Given the description of an element on the screen output the (x, y) to click on. 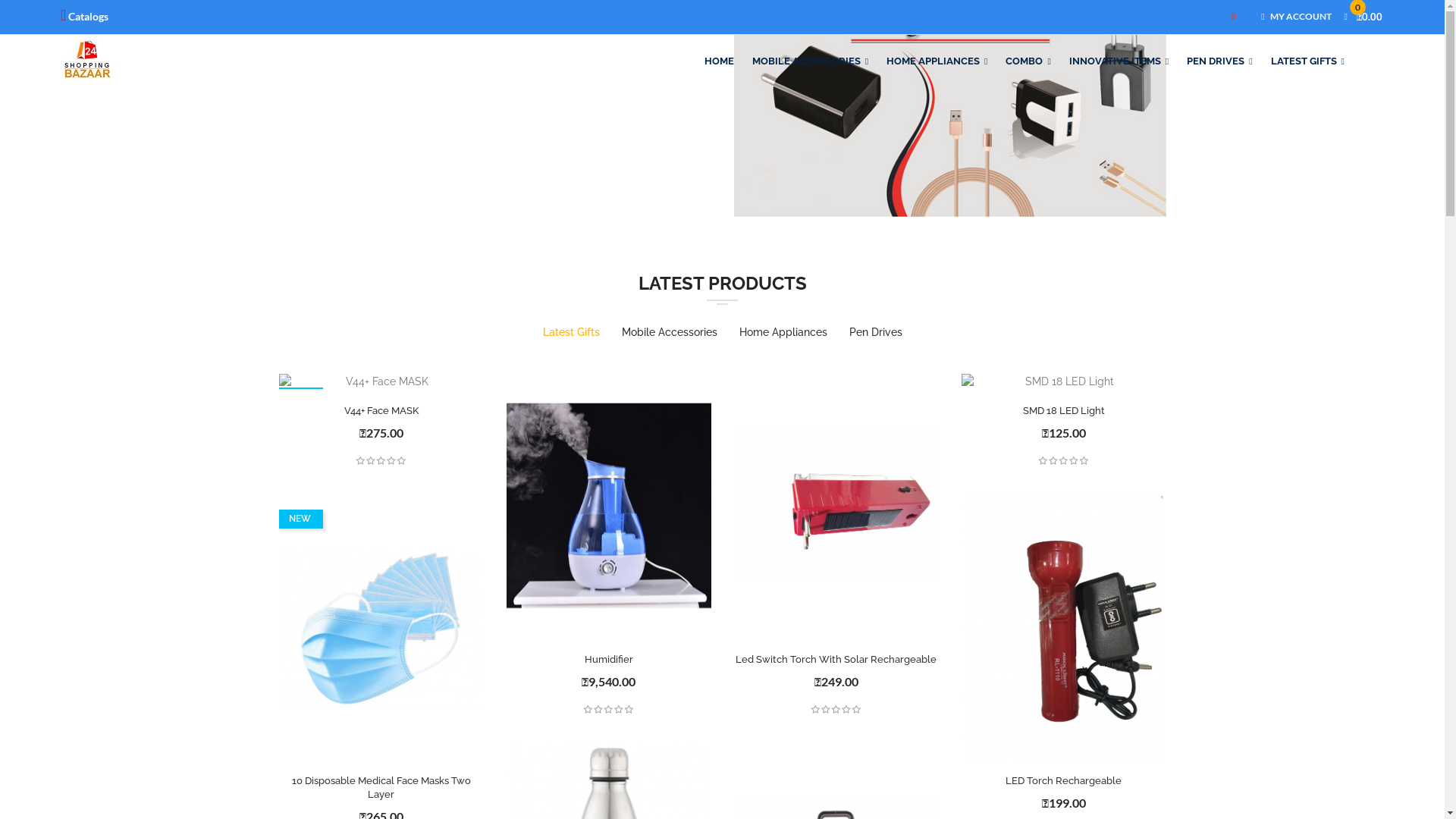
HOME Element type: text (723, 61)
HOME APPLIANCES Element type: text (936, 61)
24 Shopping Bazaar Element type: hover (86, 60)
COMBO Element type: text (1027, 61)
MOBILE ACCESSORIES Element type: text (810, 61)
Catalogs Element type: text (84, 15)
SMD 18 LED Light Element type: text (1063, 410)
1 Element type: text (695, 691)
2 Element type: text (713, 691)
4 Element type: text (749, 691)
LATEST GIFTS Element type: text (1307, 61)
PEN DRIVES Element type: text (1219, 61)
3 Element type: text (731, 691)
Led Switch Torch With Solar Rechargeable Element type: text (836, 659)
INNOVATIVE ITEMS Element type: text (1118, 61)
LED Torch Rechargeable Element type: text (1063, 781)
